Given the description of an element on the screen output the (x, y) to click on. 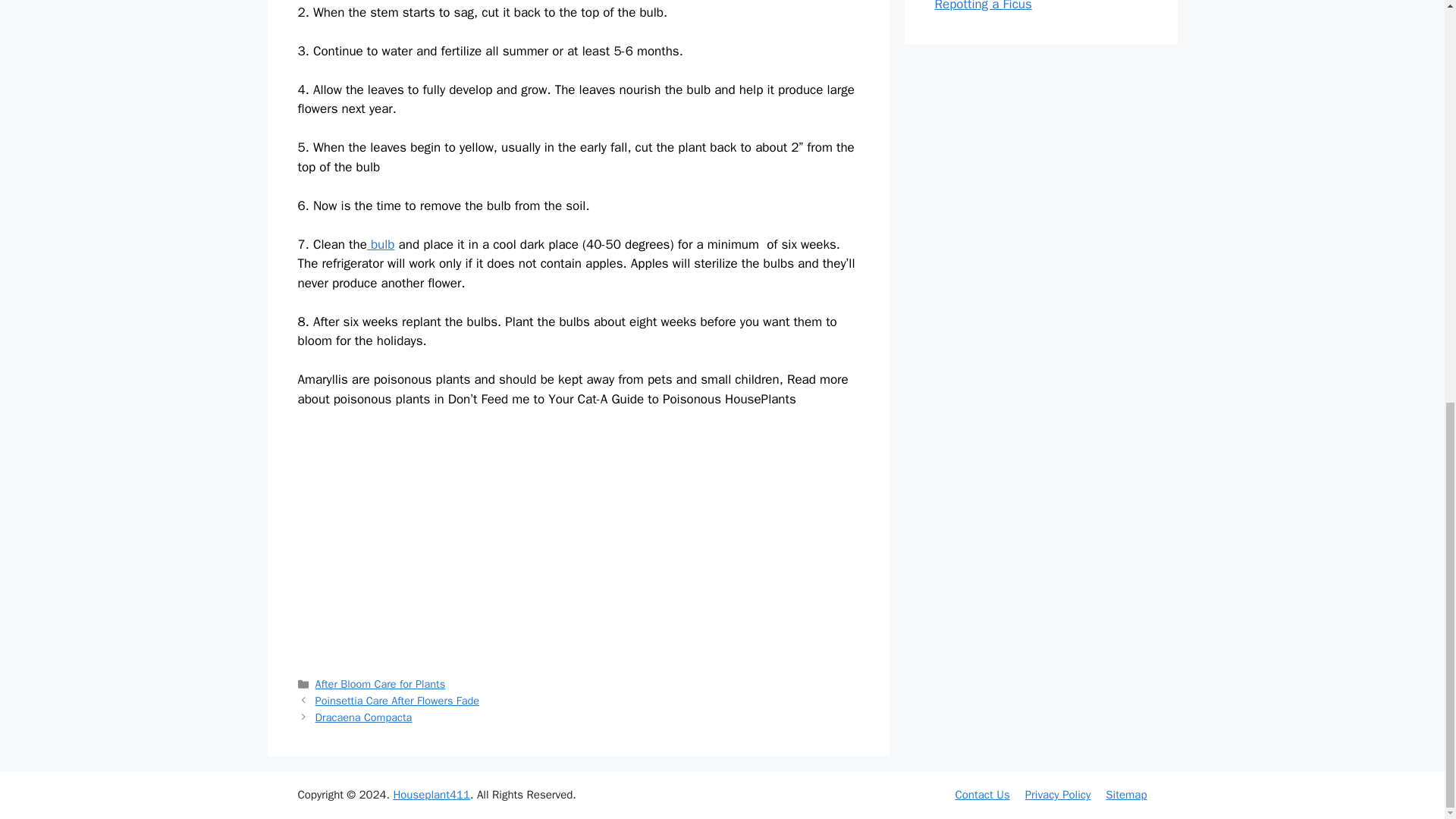
Dracaena Compacta (363, 716)
Contact Us (982, 794)
Sitemap (1126, 794)
bulb (380, 244)
Trimming Ficus Tree Roots and Repotting a Ficus (1021, 6)
Houseplant411 (431, 794)
After Bloom Care for Plants (380, 684)
Poinsettia Care After Flowers Fade (397, 700)
Scroll back to top (1406, 748)
Privacy Policy (1057, 794)
